Given the description of an element on the screen output the (x, y) to click on. 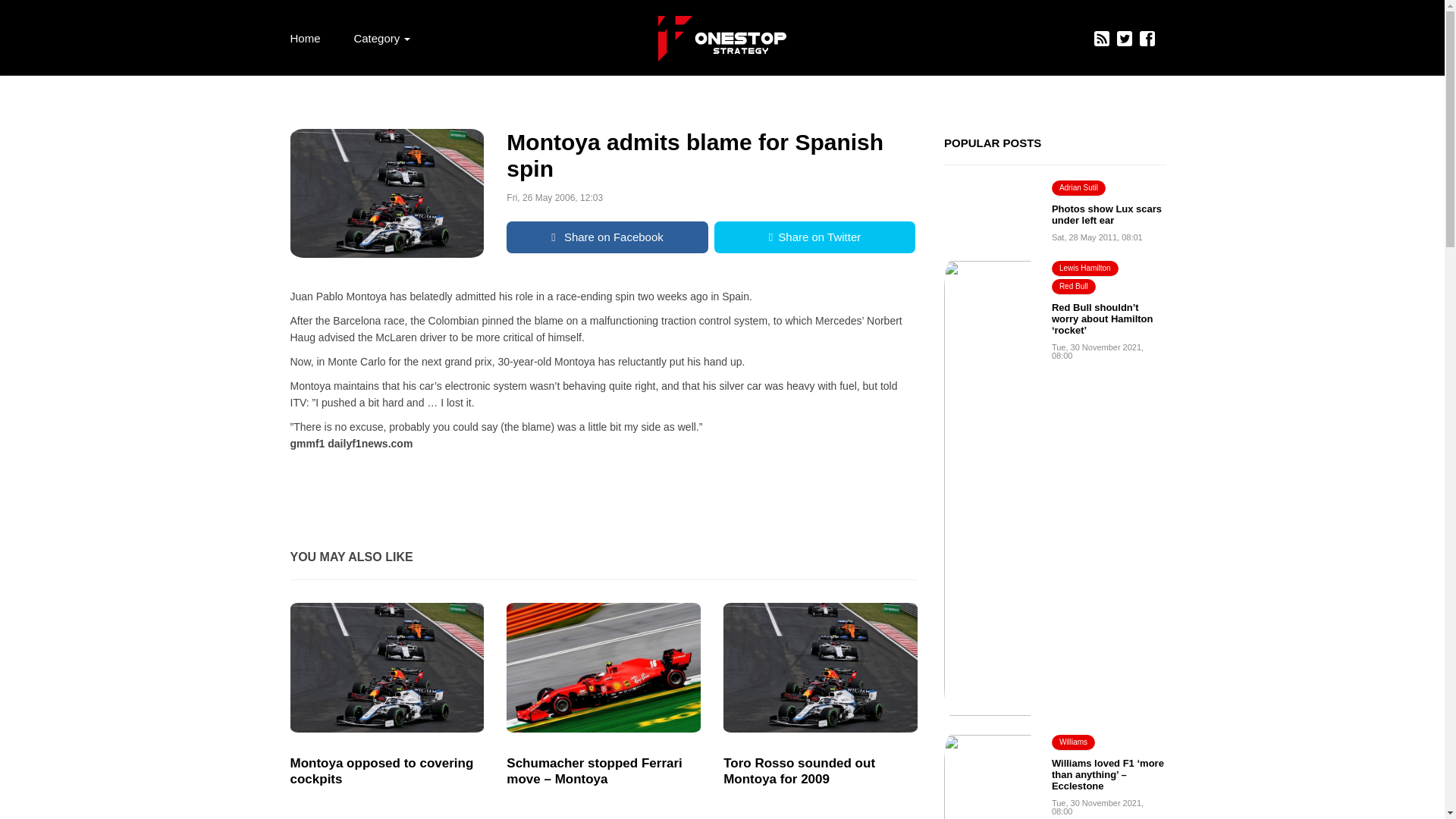
Share on Facebook (606, 237)
Lewis Hamilton (1084, 268)
Red Bull (1073, 286)
Category (381, 38)
Share on Facebook (606, 237)
Montoya opposed to covering cockpits (386, 771)
Toro Rosso sounded out Montoya for 2009 (820, 771)
Share on Twitter (814, 237)
Share on Twitter (814, 237)
Williams (1072, 742)
